Given the description of an element on the screen output the (x, y) to click on. 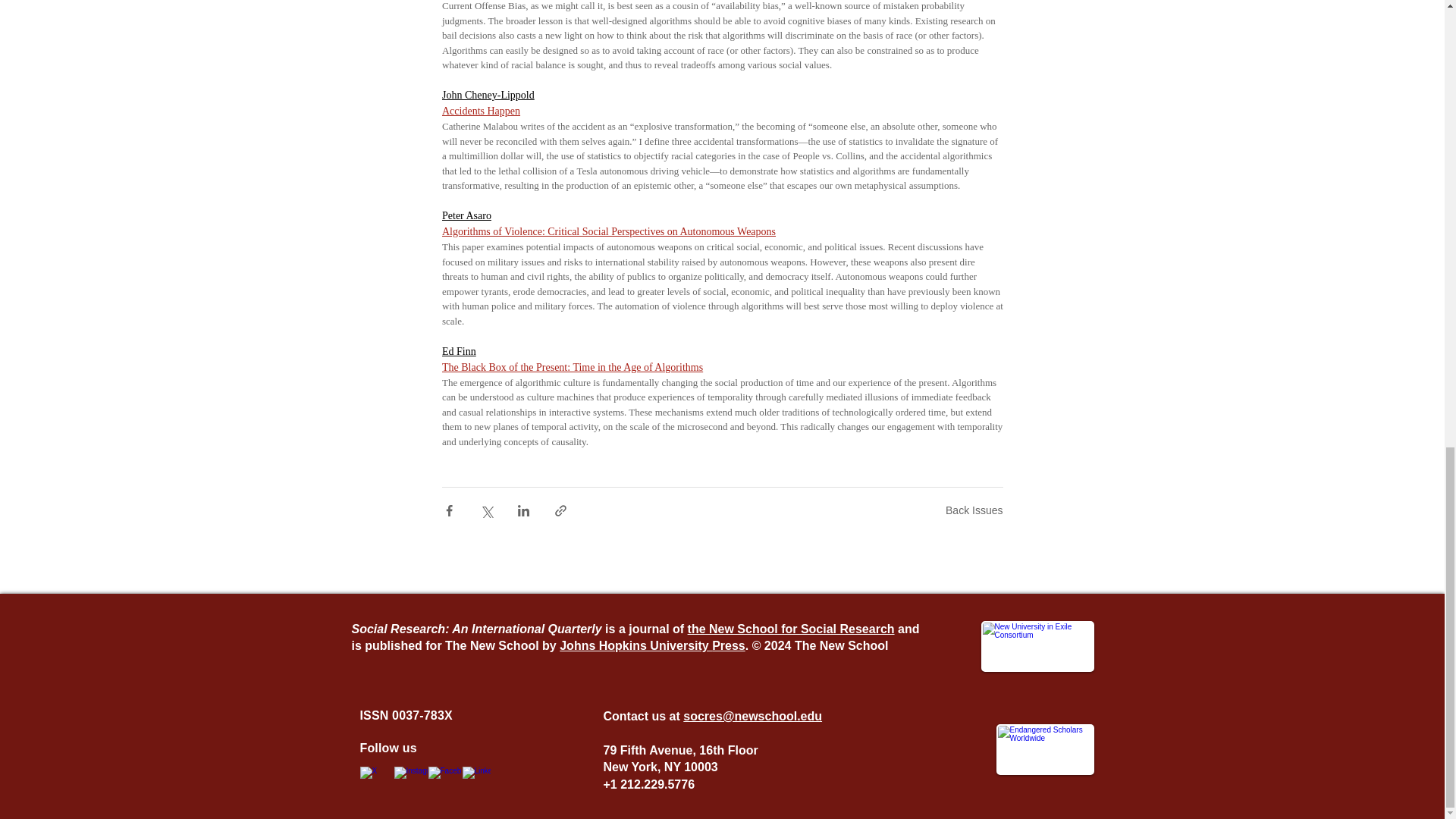
Back Issues (973, 510)
Accidents Happen (480, 111)
John Cheney-Lippold (487, 94)
Peter Asaro (465, 215)
The Black Box of the Present: Time in the Age of Algorithms (571, 367)
Ed Finn (458, 350)
